Given the description of an element on the screen output the (x, y) to click on. 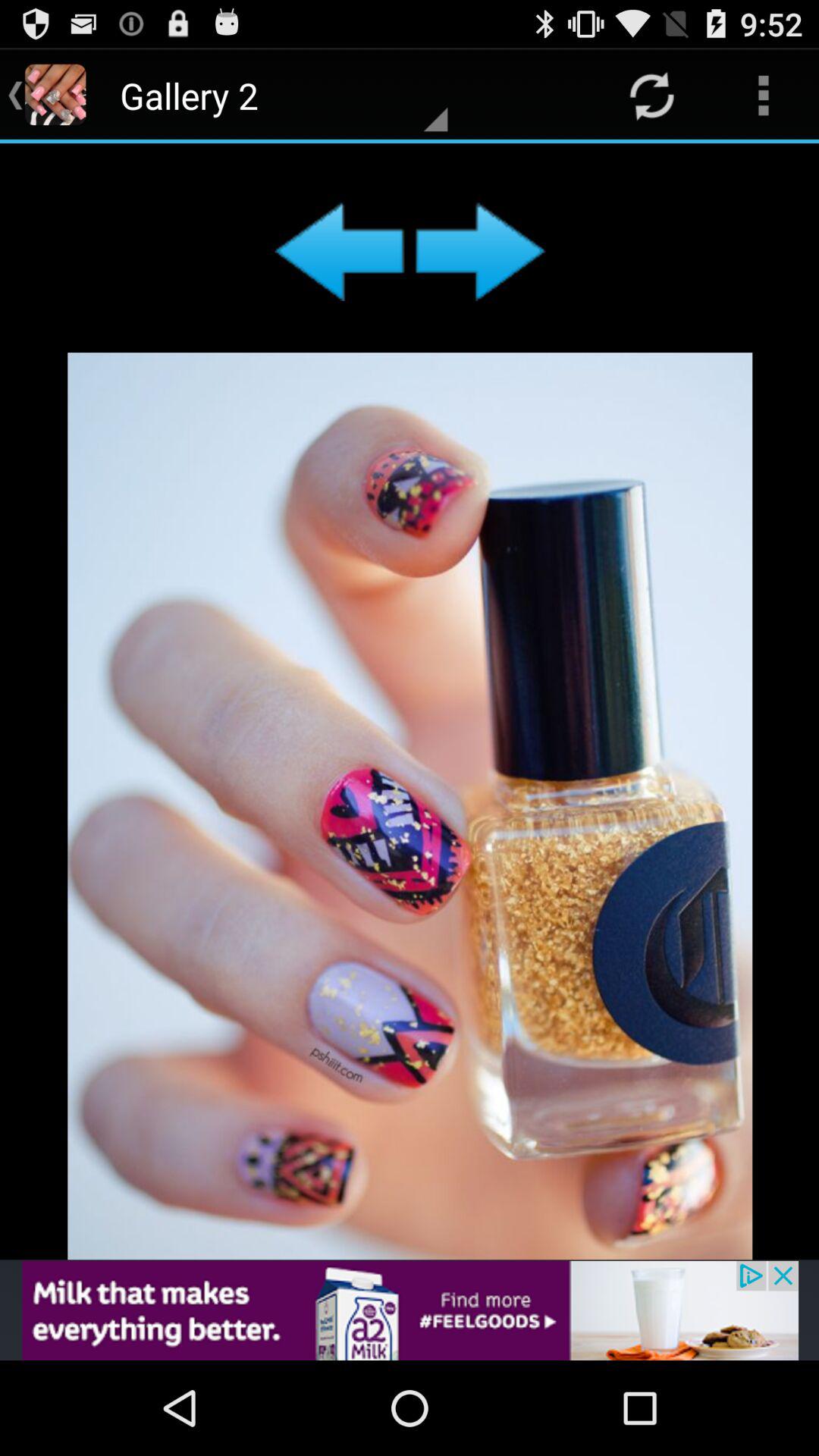
add the opti (409, 1310)
